Given the description of an element on the screen output the (x, y) to click on. 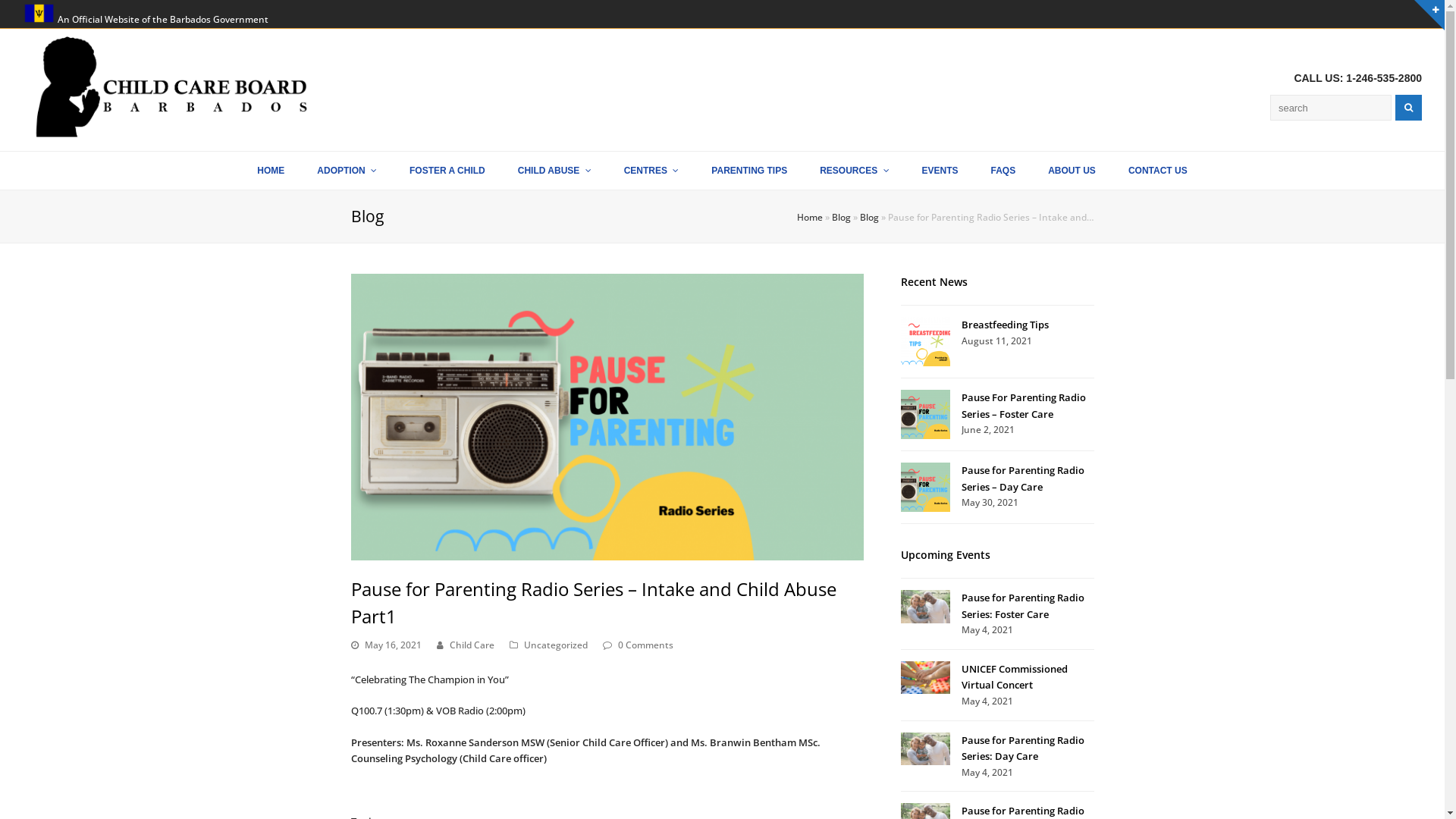
FOSTER A CHILD Element type: text (447, 170)
UNICEF Commissioned Virtual Concert Element type: text (1014, 676)
CENTRES Element type: text (651, 170)
RESOURCES Element type: text (853, 170)
CONTACT US Element type: text (1157, 170)
Pause for Parenting Radio Series: Day Care Element type: hover (925, 748)
0 Comments Element type: text (644, 644)
Breastfeeding Tips Element type: hover (925, 341)
UNICEF Commissioned Virtual Concert Element type: hover (925, 677)
Blog Element type: text (868, 216)
Uncategorized Element type: text (554, 644)
ADOPTION Element type: text (346, 170)
PARENTING TIPS Element type: text (749, 170)
Breastfeeding Tips Element type: text (1004, 324)
HOME Element type: text (270, 170)
FAQS Element type: text (1003, 170)
Home Element type: text (809, 216)
Pause for Parenting Radio Series: Foster Care Element type: hover (925, 605)
Pause for Parenting Radio Series: Day Care Element type: text (1022, 747)
CHILD ABUSE Element type: text (554, 170)
Pause for Parenting Radio Series: Foster Care Element type: text (1022, 605)
EVENTS Element type: text (939, 170)
Barbados Child Care Board Element type: hover (173, 84)
ABOUT US Element type: text (1071, 170)
Blog Element type: text (840, 216)
Child Care Element type: text (470, 644)
